Given the description of an element on the screen output the (x, y) to click on. 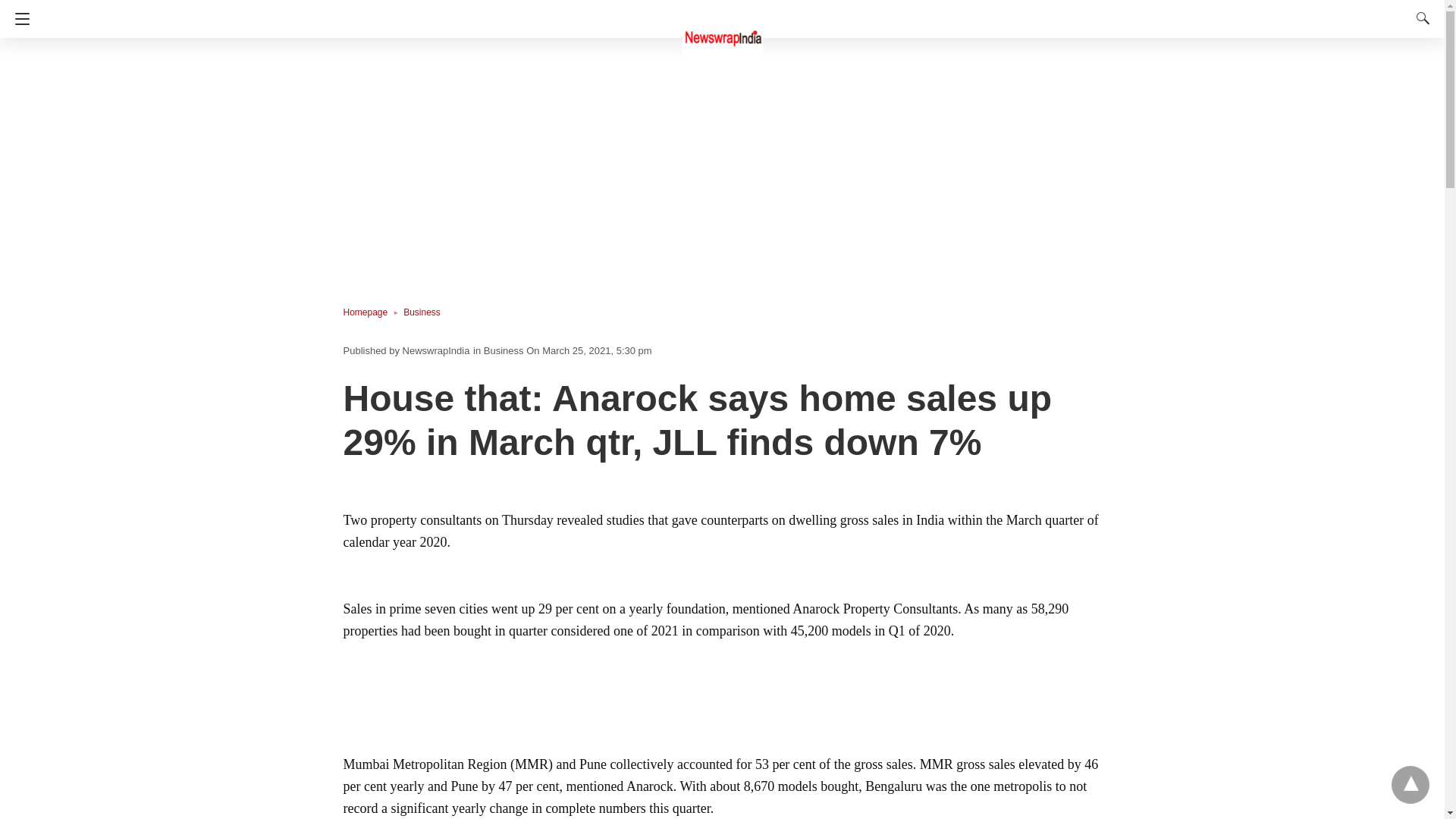
Business (422, 312)
Homepage (372, 312)
NewswrapIndia (722, 30)
Business (503, 350)
Business (422, 312)
Homepage (372, 312)
